Given the description of an element on the screen output the (x, y) to click on. 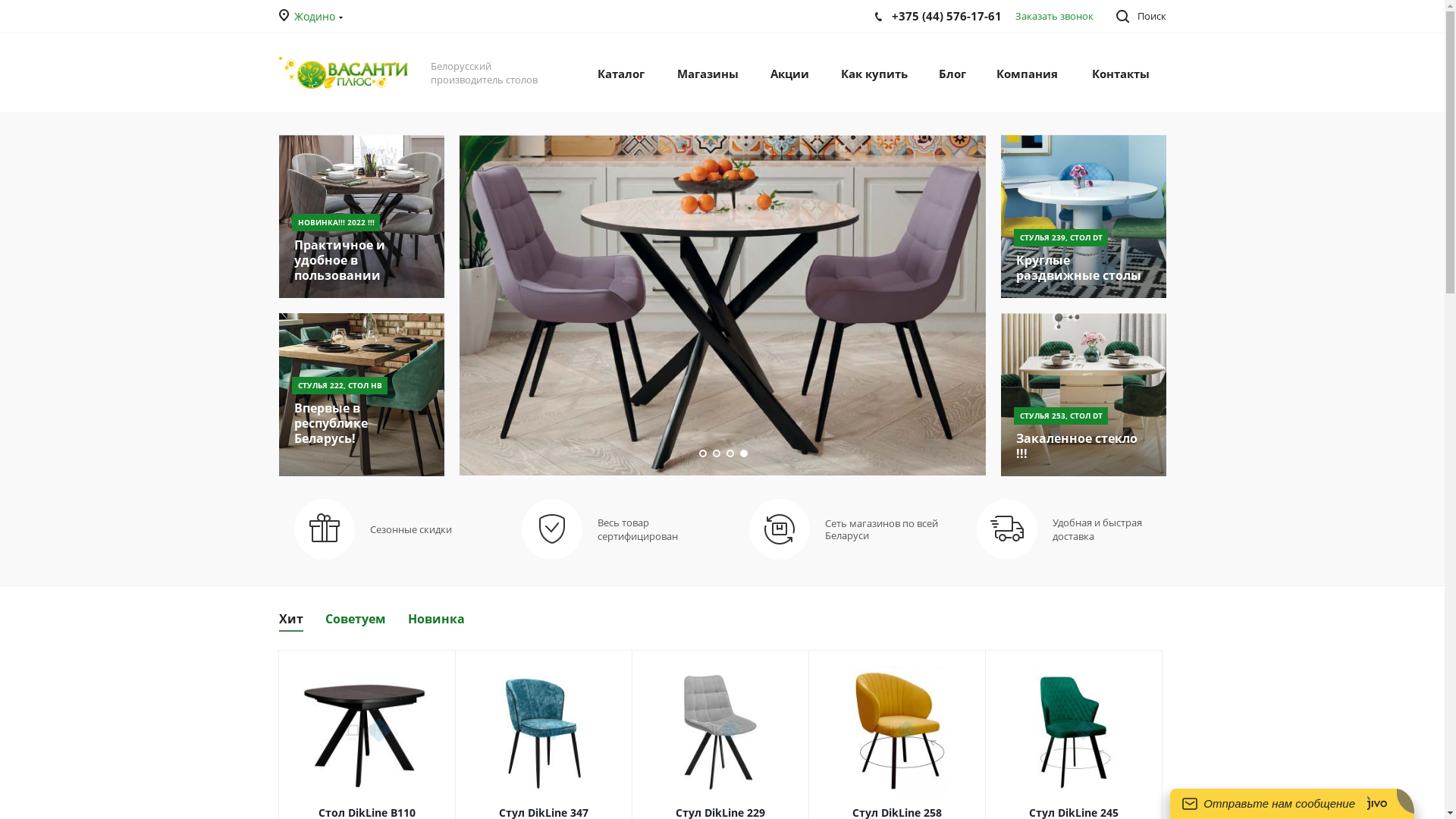
2 Element type: text (716, 453)
4 Element type: text (743, 453)
3 Element type: text (730, 453)
1 Element type: text (702, 453)
